Given the description of an element on the screen output the (x, y) to click on. 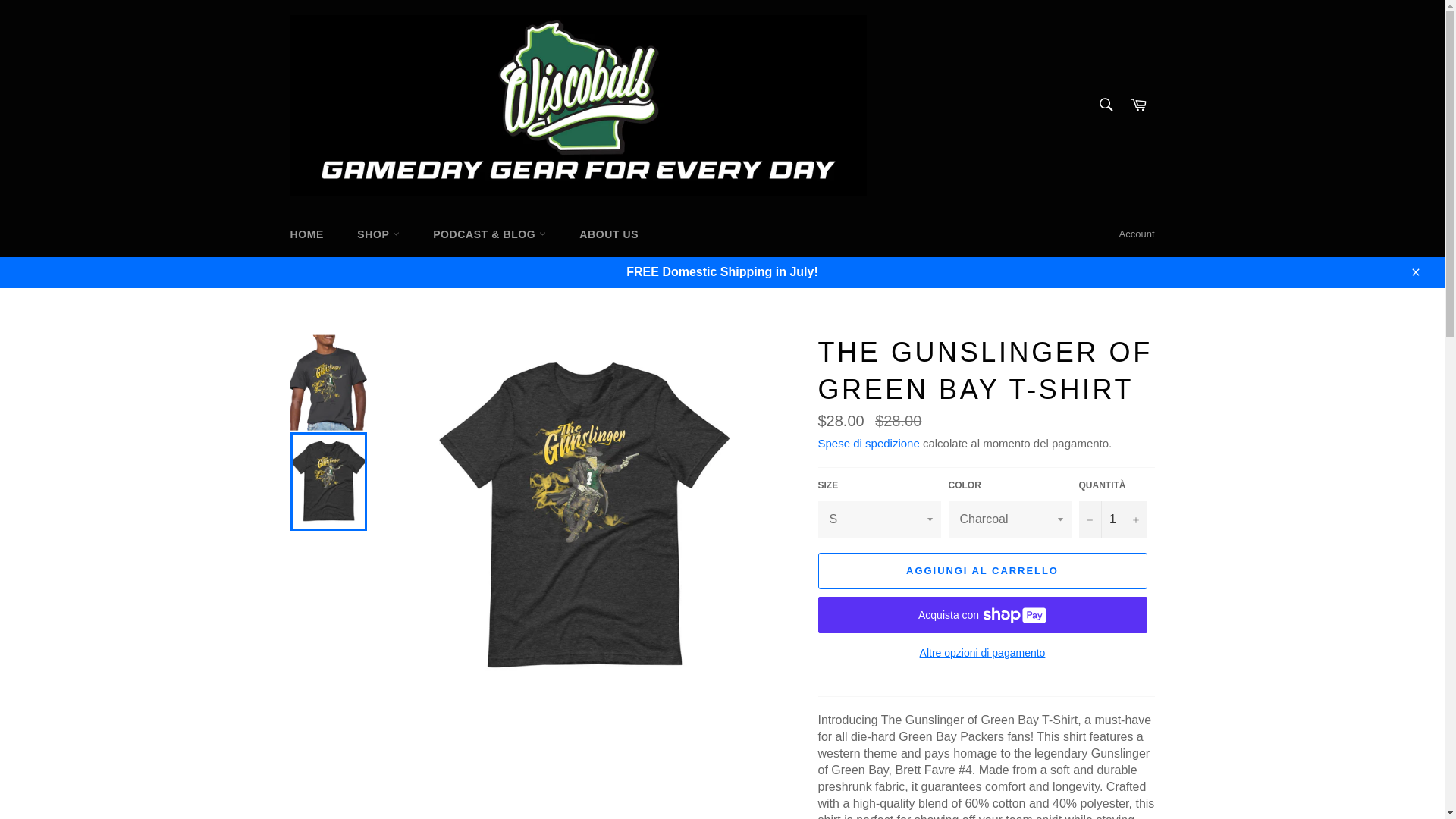
1 (1112, 519)
SHOP (377, 234)
Cerca (1104, 104)
Carrello (1138, 105)
HOME (306, 234)
